Given the description of an element on the screen output the (x, y) to click on. 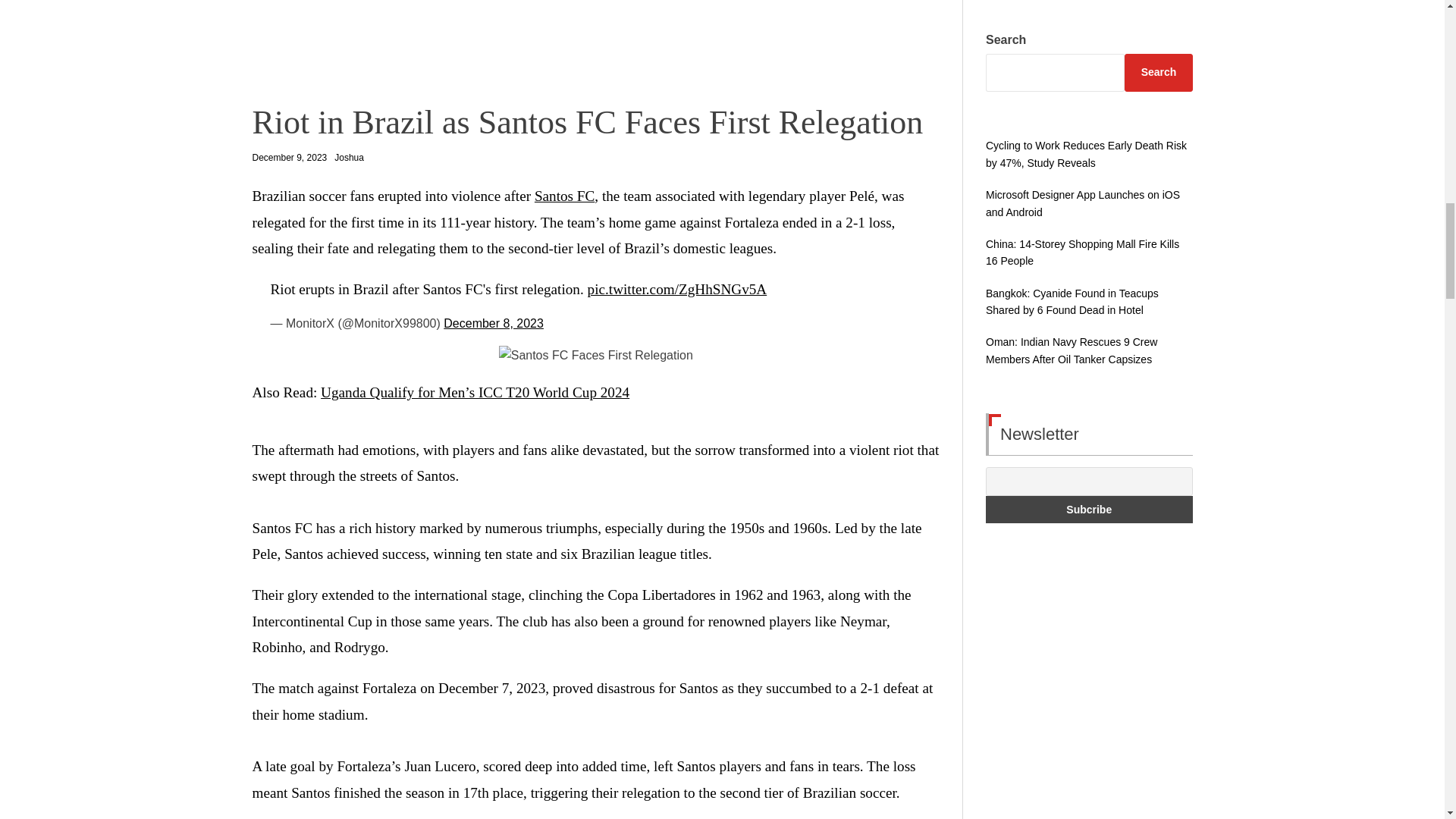
Santos FC (564, 195)
December 9, 2023 (288, 157)
Joshua (349, 157)
December 8, 2023 (493, 323)
